Given the description of an element on the screen output the (x, y) to click on. 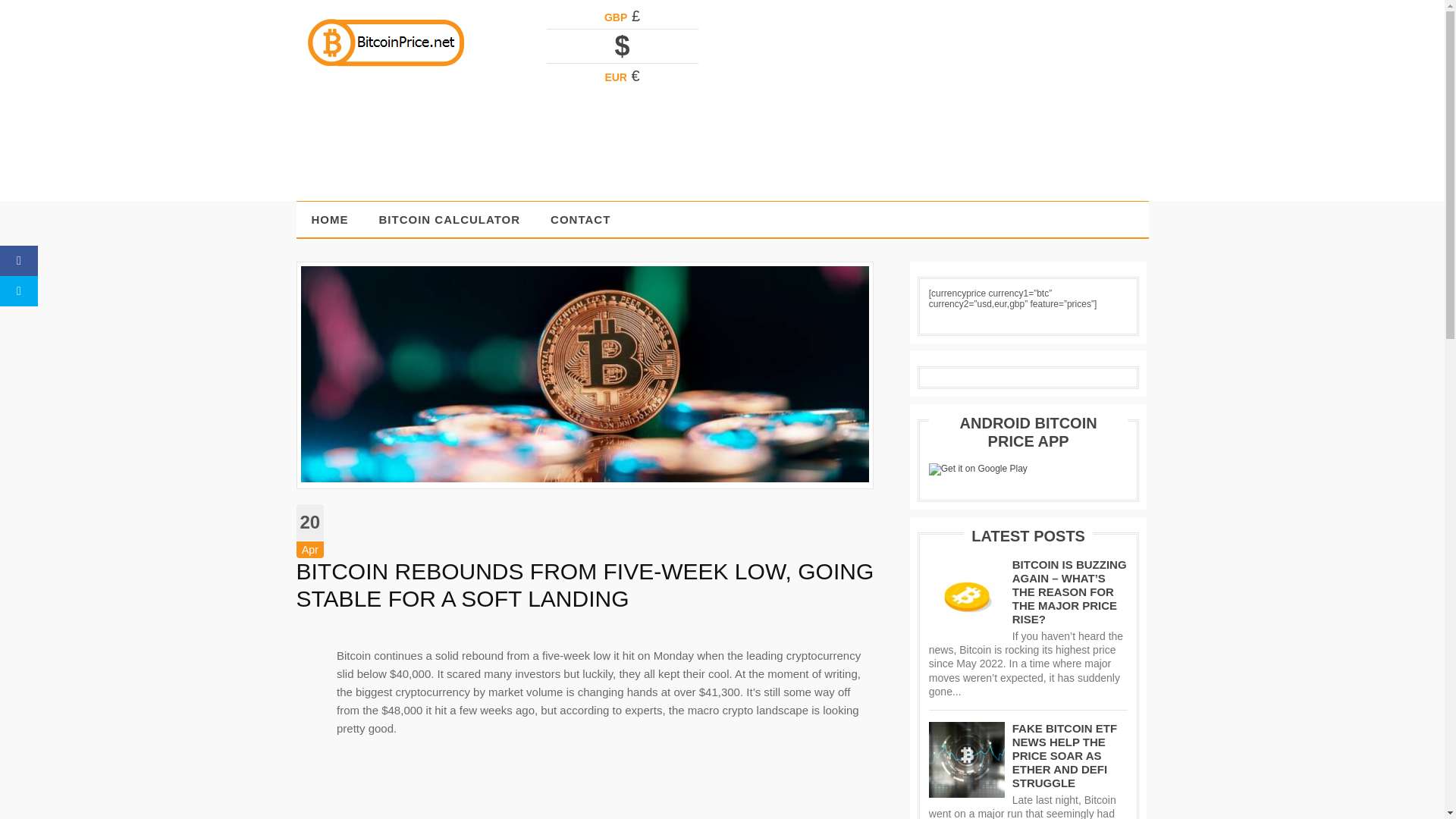
HOME (328, 219)
CONTACT (580, 219)
BITCOIN CALCULATOR (449, 219)
Advertisement (970, 150)
Bitcoin Price (385, 63)
Advertisement (606, 785)
